Given the description of an element on the screen output the (x, y) to click on. 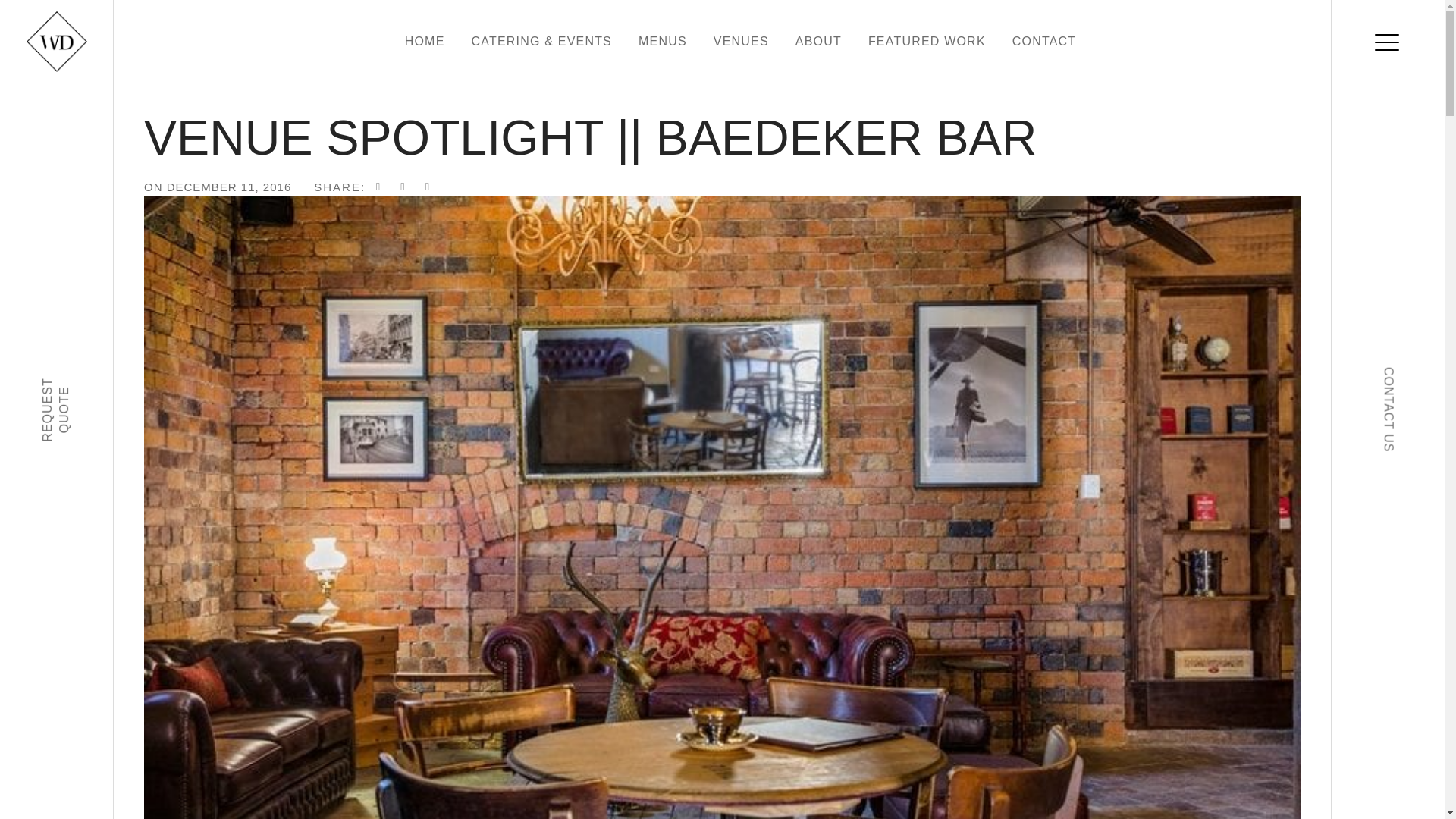
HOME (424, 41)
VENUES (740, 41)
MENUS (663, 41)
FEATURED WORK (926, 41)
ABOUT (817, 41)
CONTACT (1044, 41)
